Given the description of an element on the screen output the (x, y) to click on. 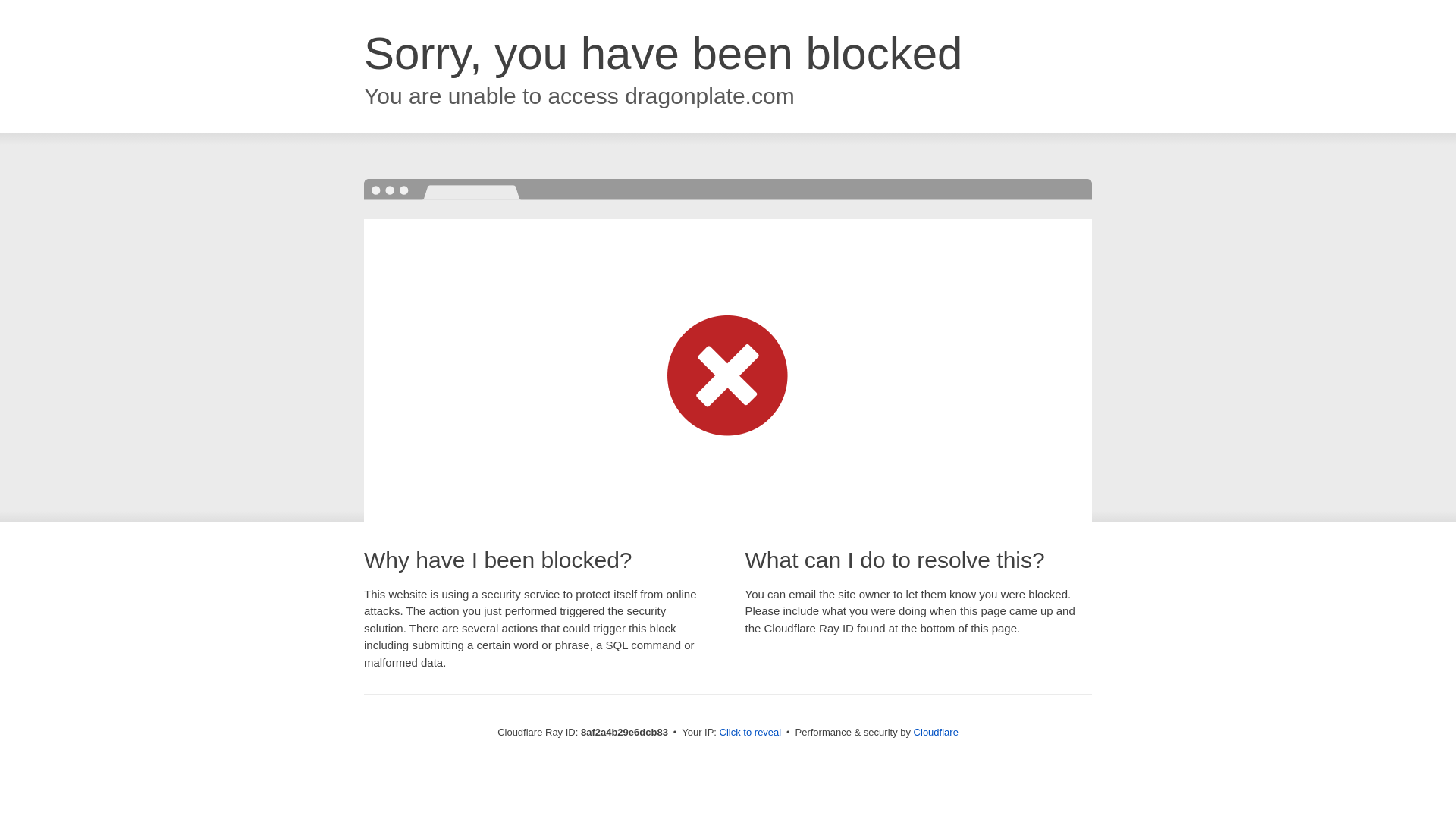
Cloudflare (936, 731)
Click to reveal (750, 732)
